Given the description of an element on the screen output the (x, y) to click on. 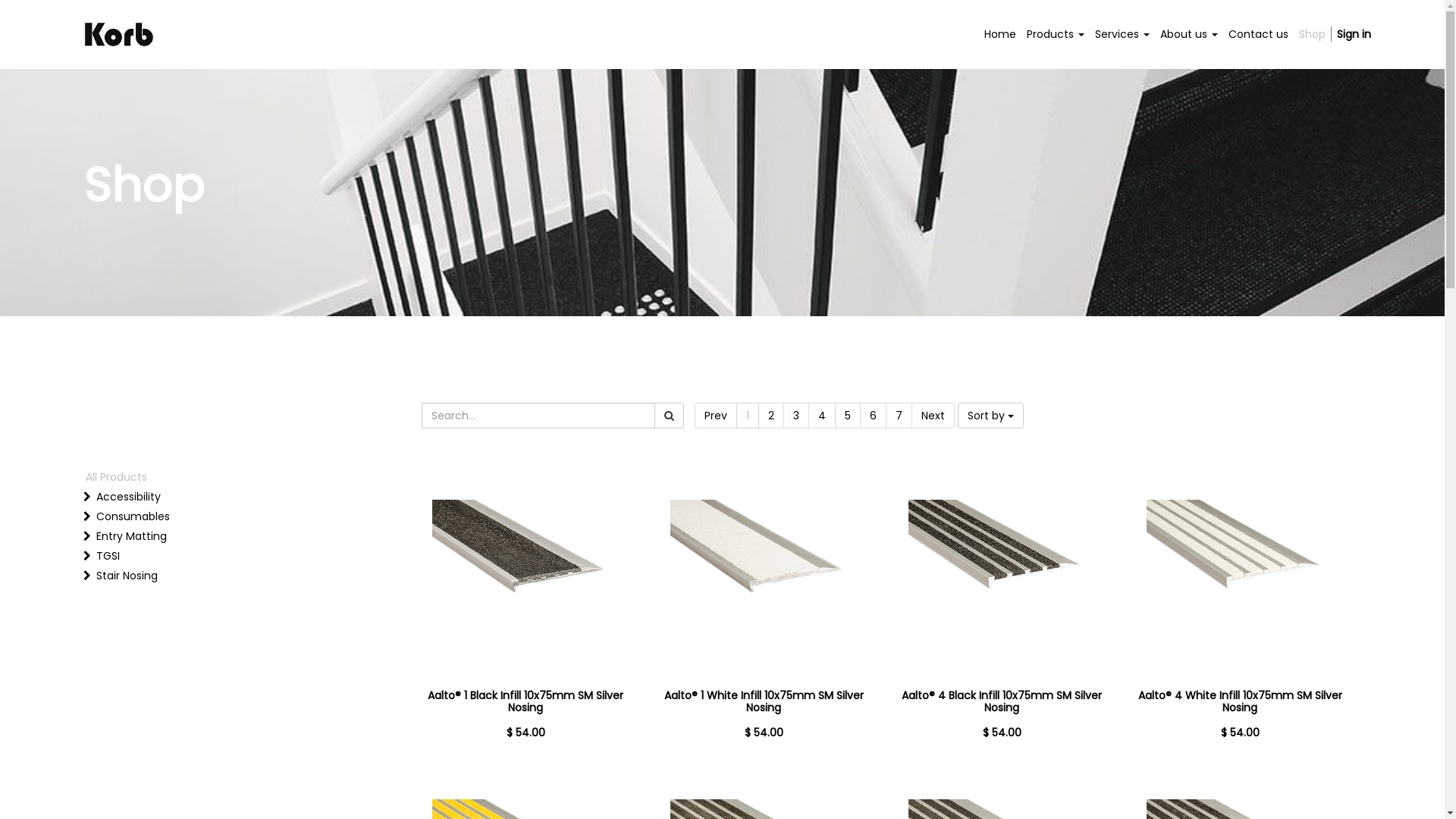
Next Element type: text (932, 415)
Consumables Element type: text (214, 516)
2 Element type: text (771, 415)
All Products Element type: text (204, 476)
5 Element type: text (846, 415)
TGSI Element type: text (214, 555)
7 Element type: text (898, 415)
Sign in Element type: text (1353, 34)
Services Element type: text (1121, 34)
3 Element type: text (795, 415)
Contact us Element type: text (1258, 34)
Home Element type: text (1000, 34)
Sort by Element type: text (989, 415)
6 Element type: text (872, 415)
About us Element type: text (1188, 34)
Korb Pty Ltd Element type: hover (118, 34)
Prev Element type: text (715, 415)
Stair Nosing Element type: text (214, 575)
1 Element type: text (746, 415)
4 Element type: text (821, 415)
Entry Matting Element type: text (214, 536)
Accessibility Element type: text (214, 496)
Products Element type: text (1055, 34)
Shop Element type: text (1311, 34)
